Given the description of an element on the screen output the (x, y) to click on. 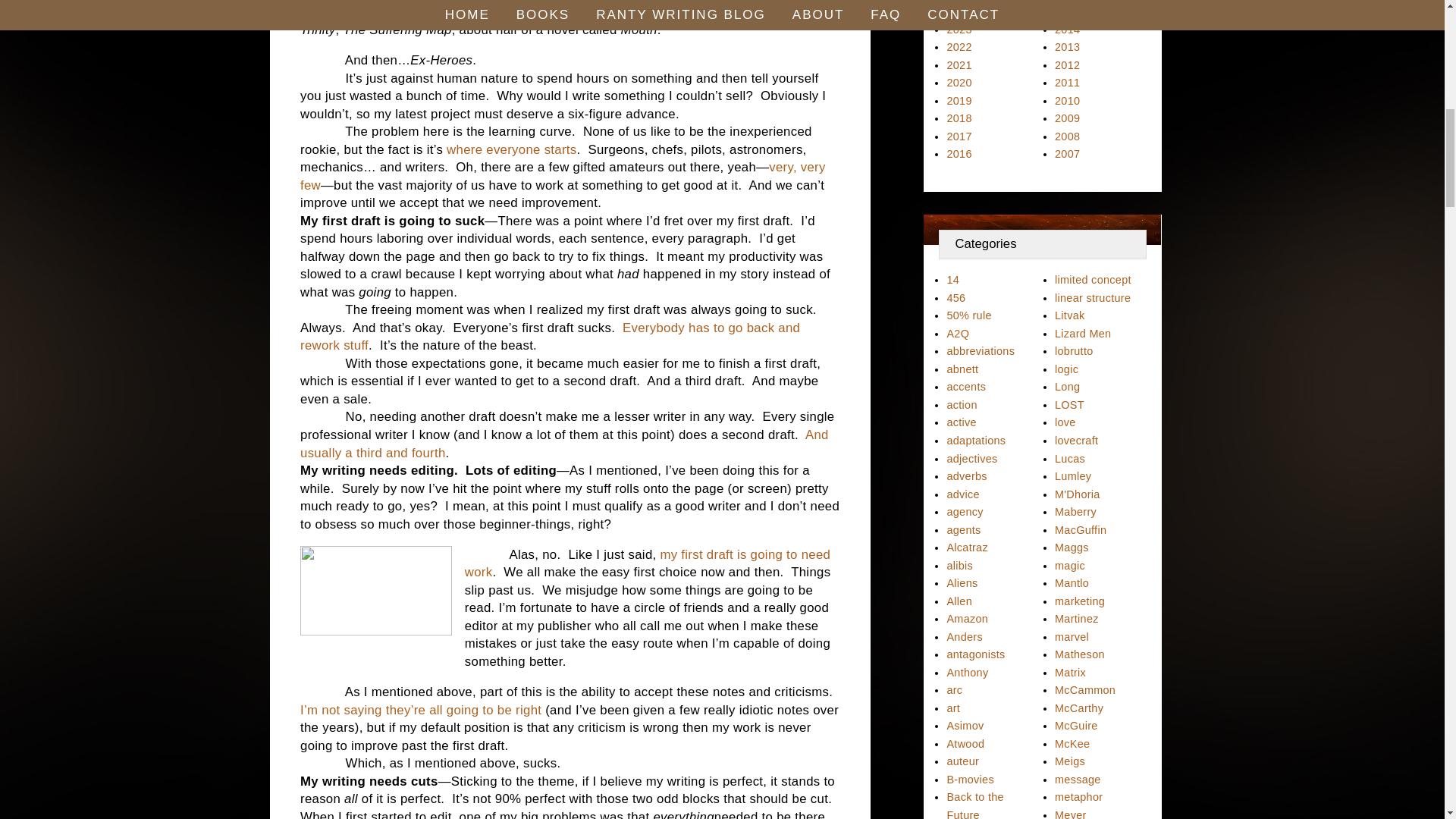
where everyone starts (511, 149)
And usually a third and fourth (563, 443)
Everybody has to go back and rework stuff (549, 336)
very, very few (562, 175)
my first draft is going to need work (646, 563)
